Given the description of an element on the screen output the (x, y) to click on. 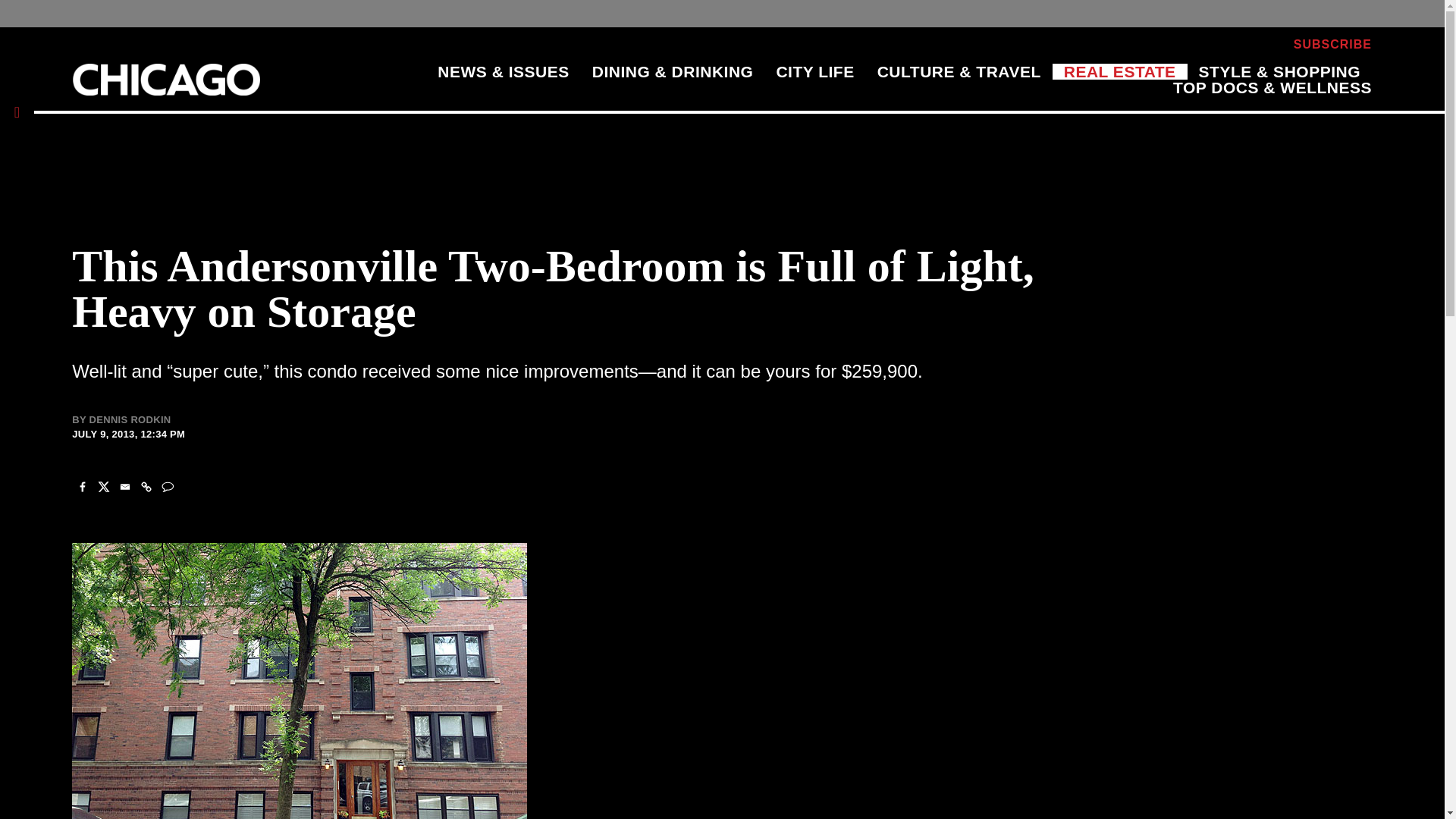
Copy Link (145, 486)
EVENTS (1128, 43)
Facebook (82, 486)
Email (124, 486)
NEWSLETTERS (1224, 43)
X (103, 486)
comment (167, 486)
